Given the description of an element on the screen output the (x, y) to click on. 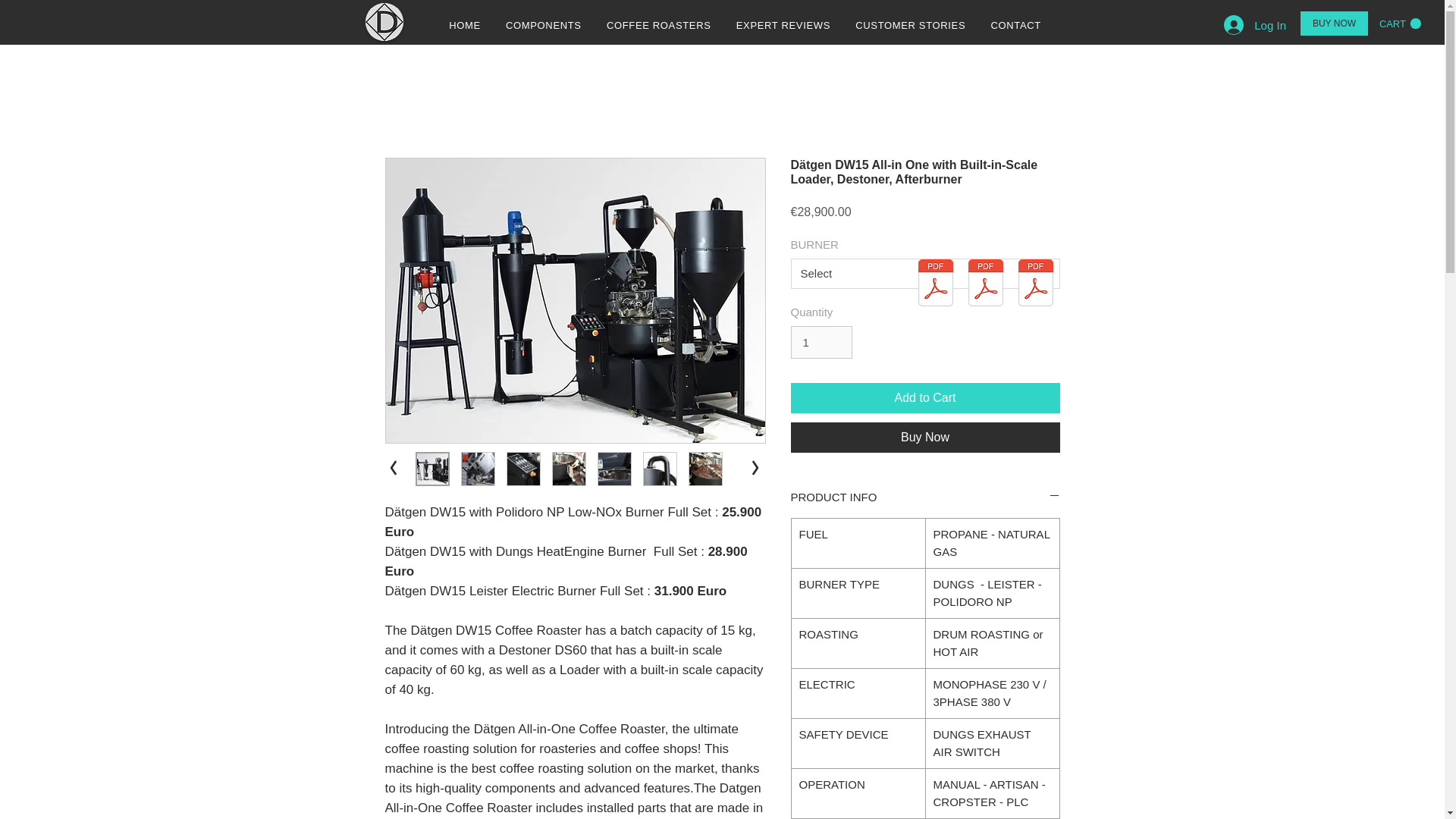
HOME (464, 25)
Log In (1254, 24)
Buy Now (924, 437)
Add to Cart (924, 398)
BUY NOW (1334, 23)
CUSTOMER STORIES (910, 25)
CART (1399, 23)
Select (924, 273)
CONTACT (1016, 25)
PRODUCT INFO (924, 496)
1 (820, 342)
COMPONENTS (543, 25)
COFFEE ROASTERS (658, 25)
CART (1399, 23)
